Given the description of an element on the screen output the (x, y) to click on. 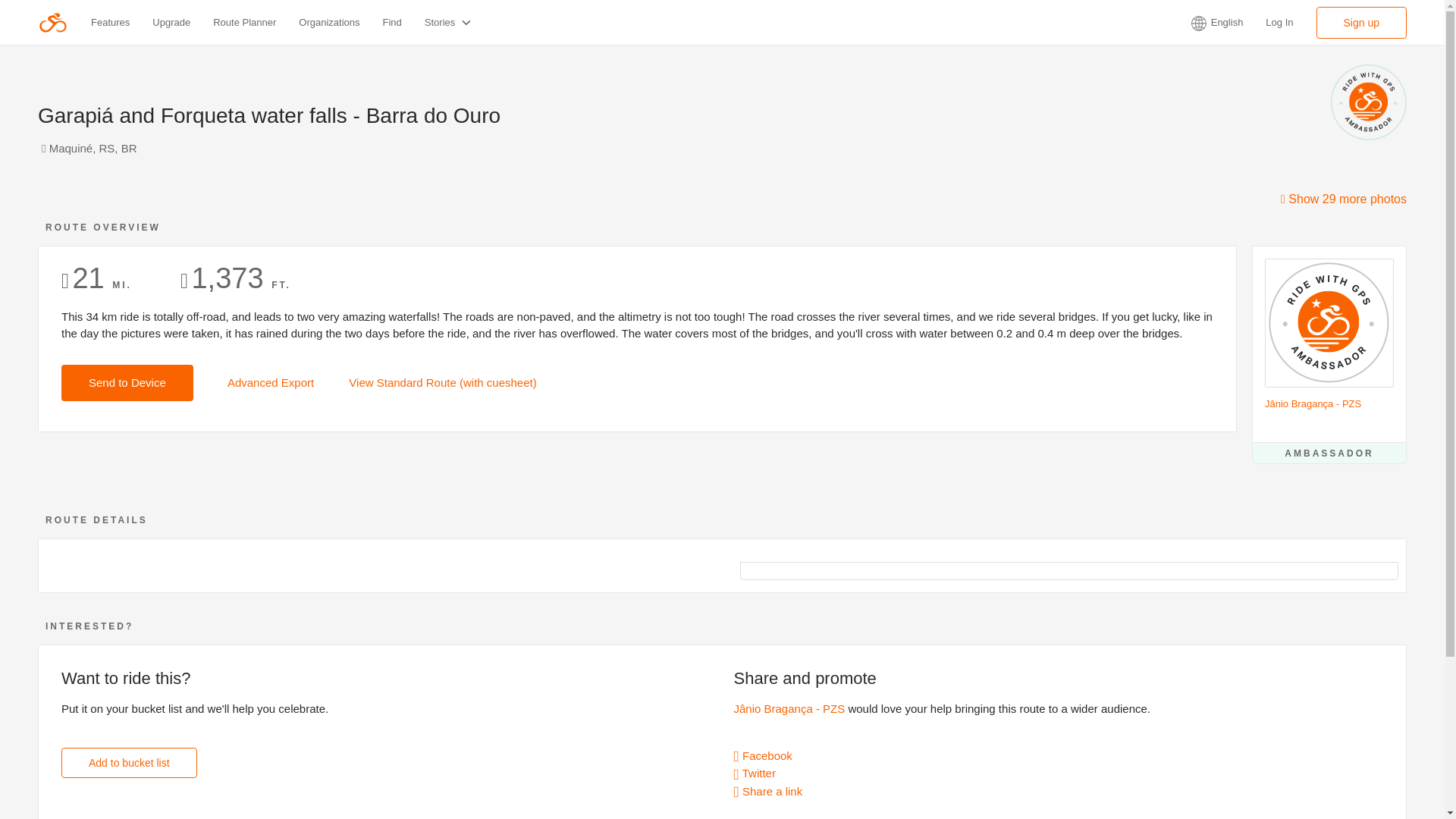
Facebook (762, 755)
Send to Device (127, 382)
Twitter (754, 772)
Upgrade (171, 22)
Route Planner (244, 22)
Stories (449, 21)
Share a link (768, 790)
Show 29 more photos (1343, 199)
Features (109, 22)
Sign up (1361, 21)
